Given the description of an element on the screen output the (x, y) to click on. 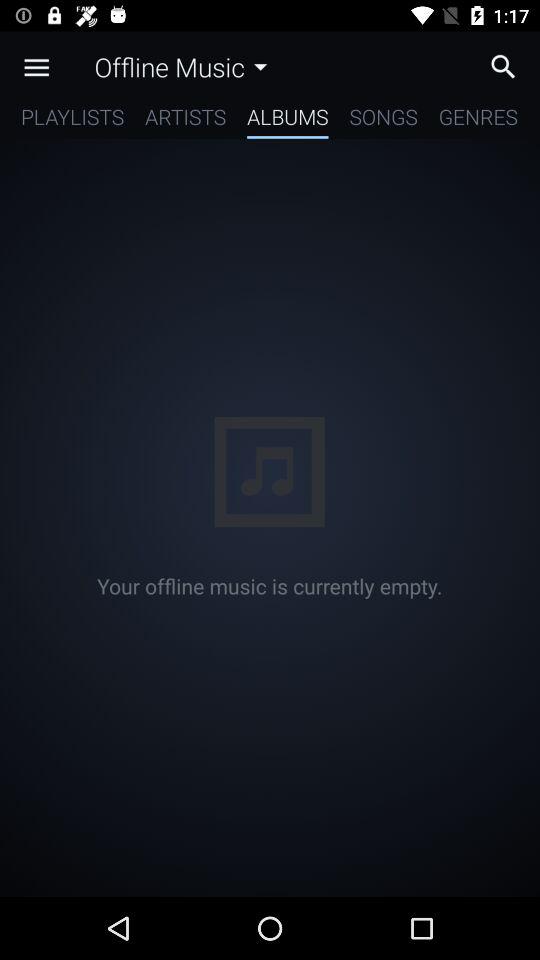
turn off item above your offline music icon (72, 120)
